Given the description of an element on the screen output the (x, y) to click on. 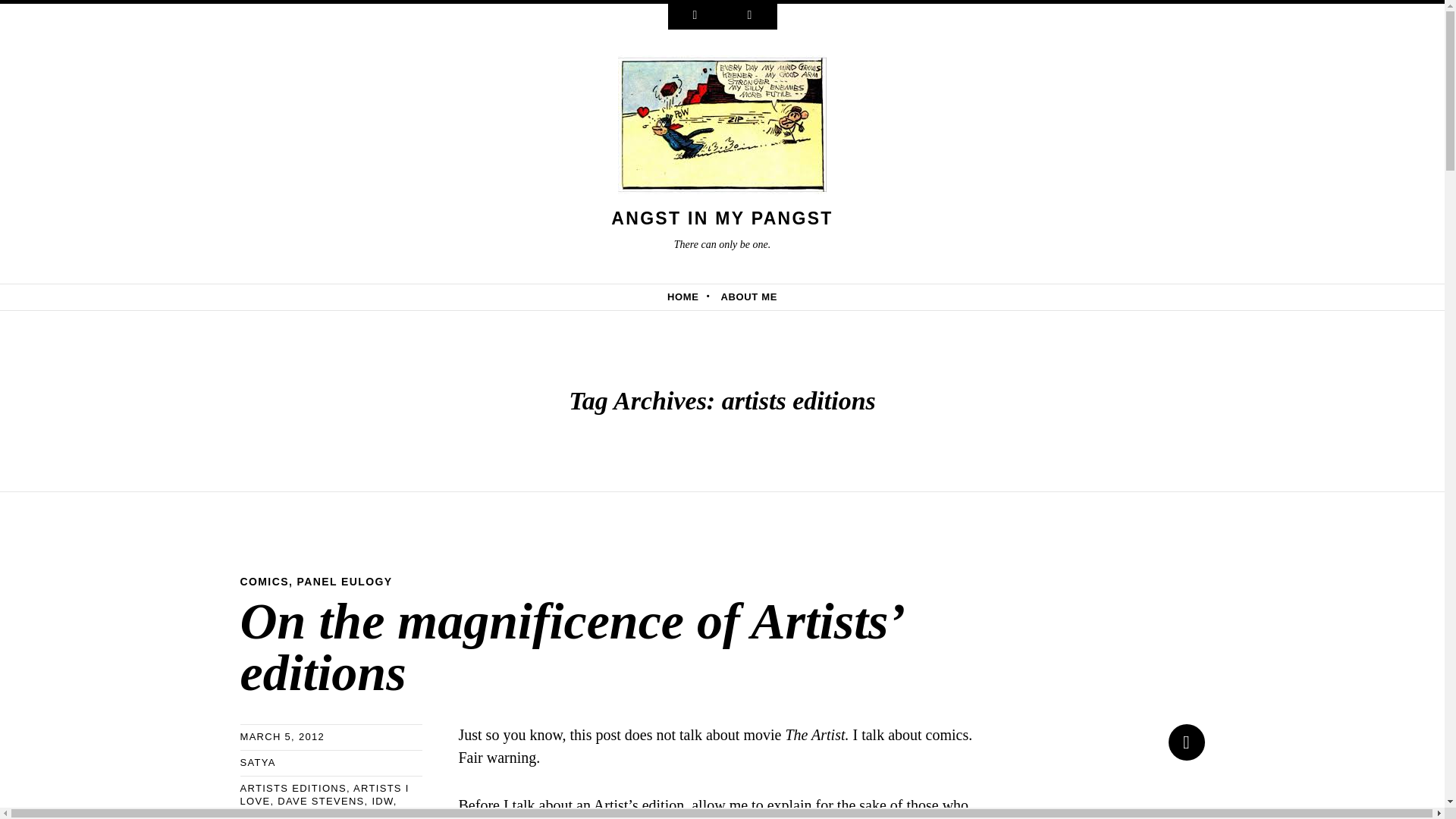
Search (749, 16)
9:05 pm (282, 736)
Widgets (694, 16)
Angst In My Pangst (721, 218)
Angst In My Pangst (722, 128)
Skip to content (56, 296)
View all posts by Satya (257, 762)
